Given the description of an element on the screen output the (x, y) to click on. 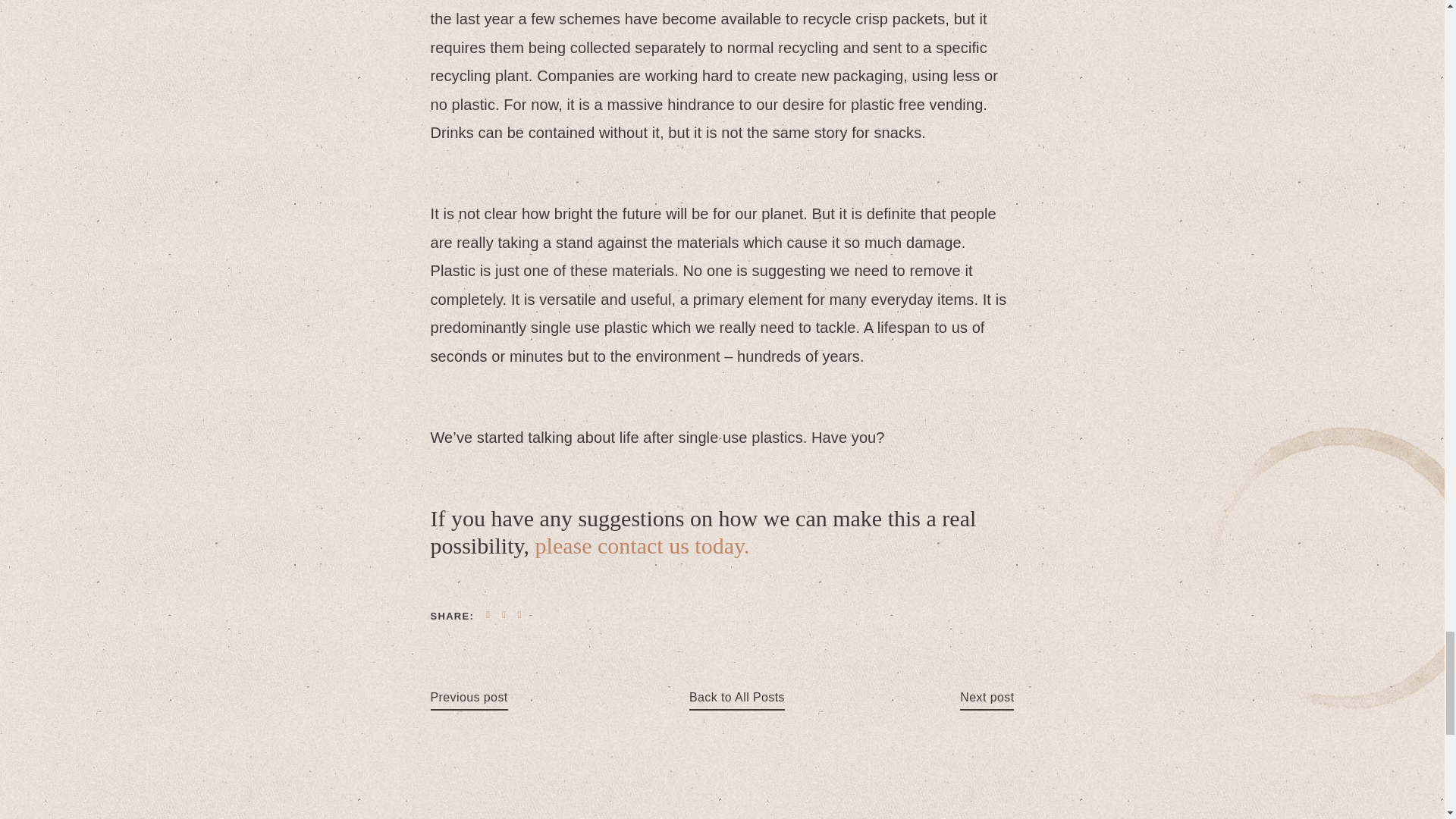
Next post (986, 698)
please contact us today. (642, 545)
Previous post (469, 698)
Back to All Posts (736, 698)
